Given the description of an element on the screen output the (x, y) to click on. 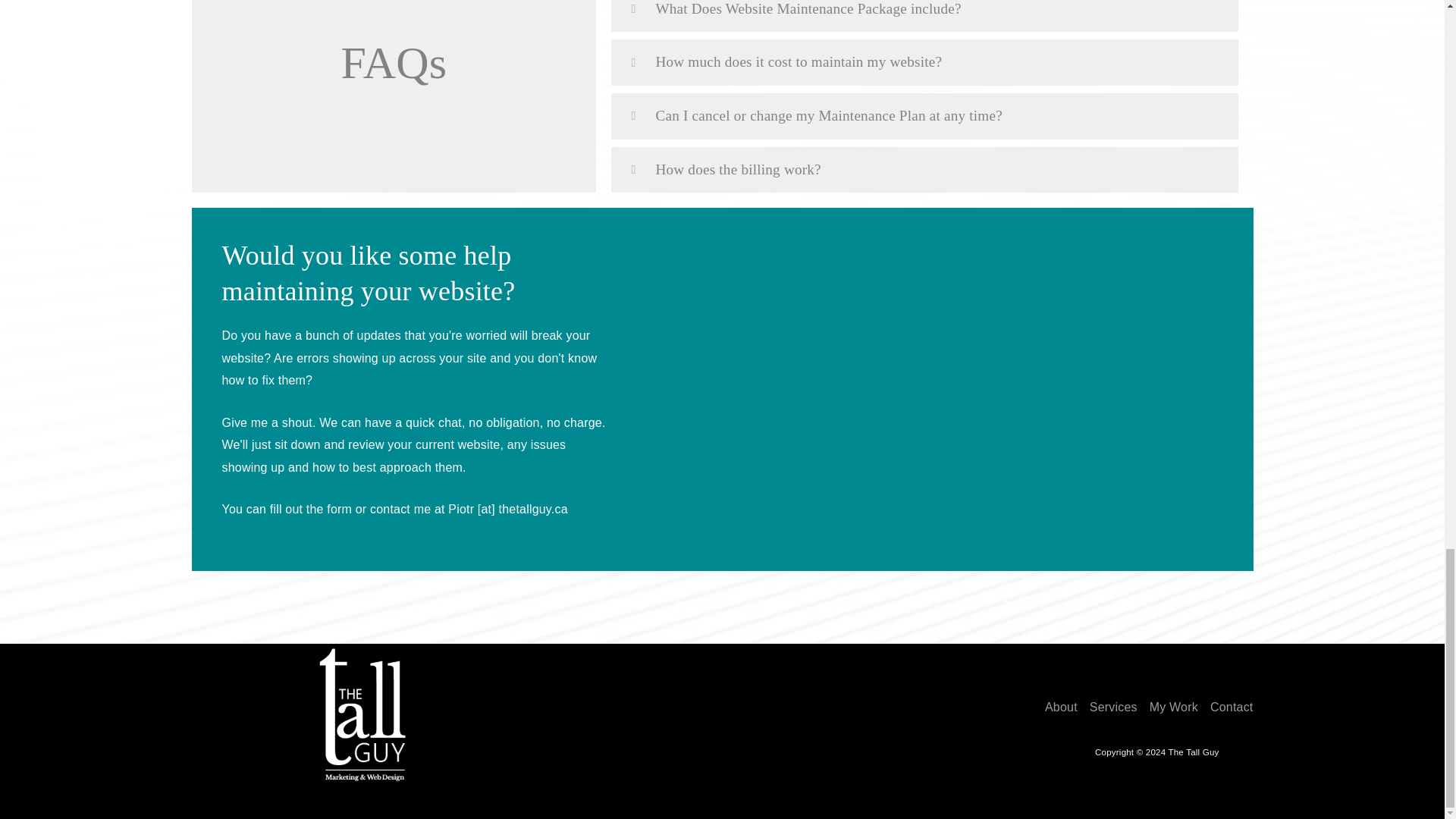
My Work (1173, 707)
Services (1112, 707)
